Given the description of an element on the screen output the (x, y) to click on. 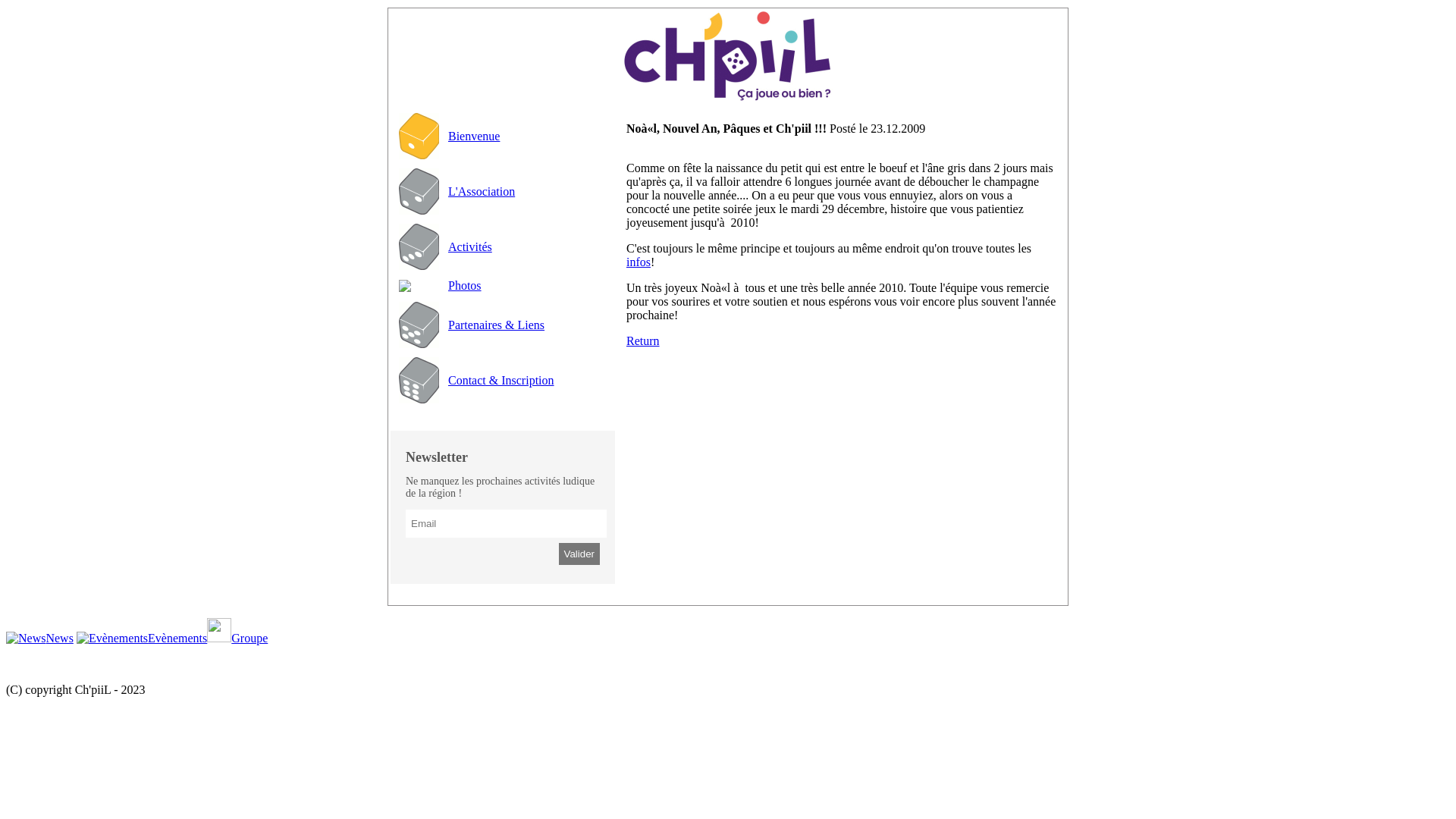
Contact & Inscription Element type: text (501, 379)
infos Element type: text (638, 261)
Photos Element type: text (464, 285)
Valider Element type: text (578, 553)
Bienvenue Element type: text (473, 134)
News Element type: hover (25, 638)
News Element type: text (39, 637)
Groupe Element type: text (237, 637)
Return Element type: text (642, 340)
Partenaires & Liens Element type: text (496, 324)
L'Association Element type: text (481, 191)
